Given the description of an element on the screen output the (x, y) to click on. 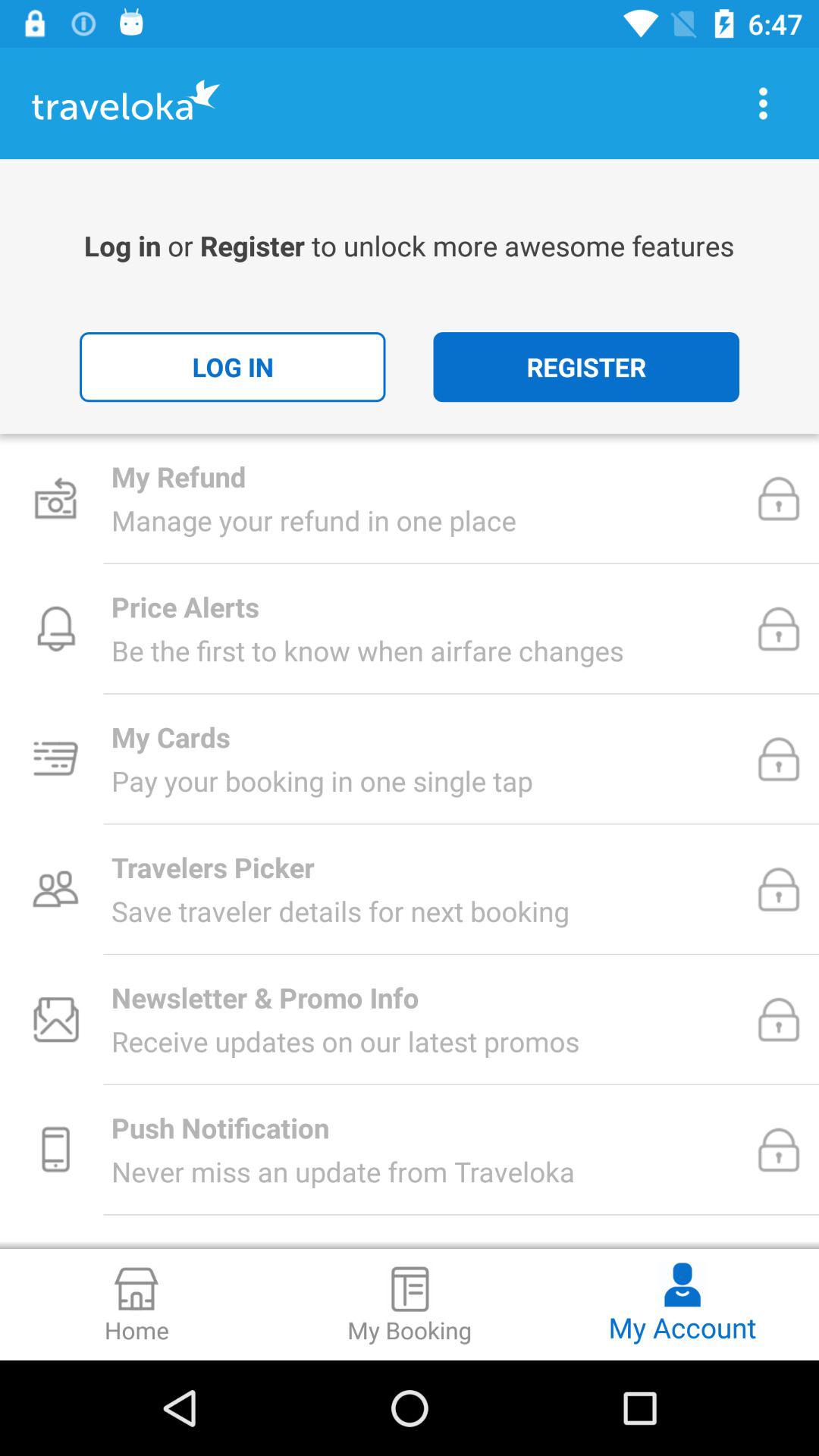
options (763, 103)
